Given the description of an element on the screen output the (x, y) to click on. 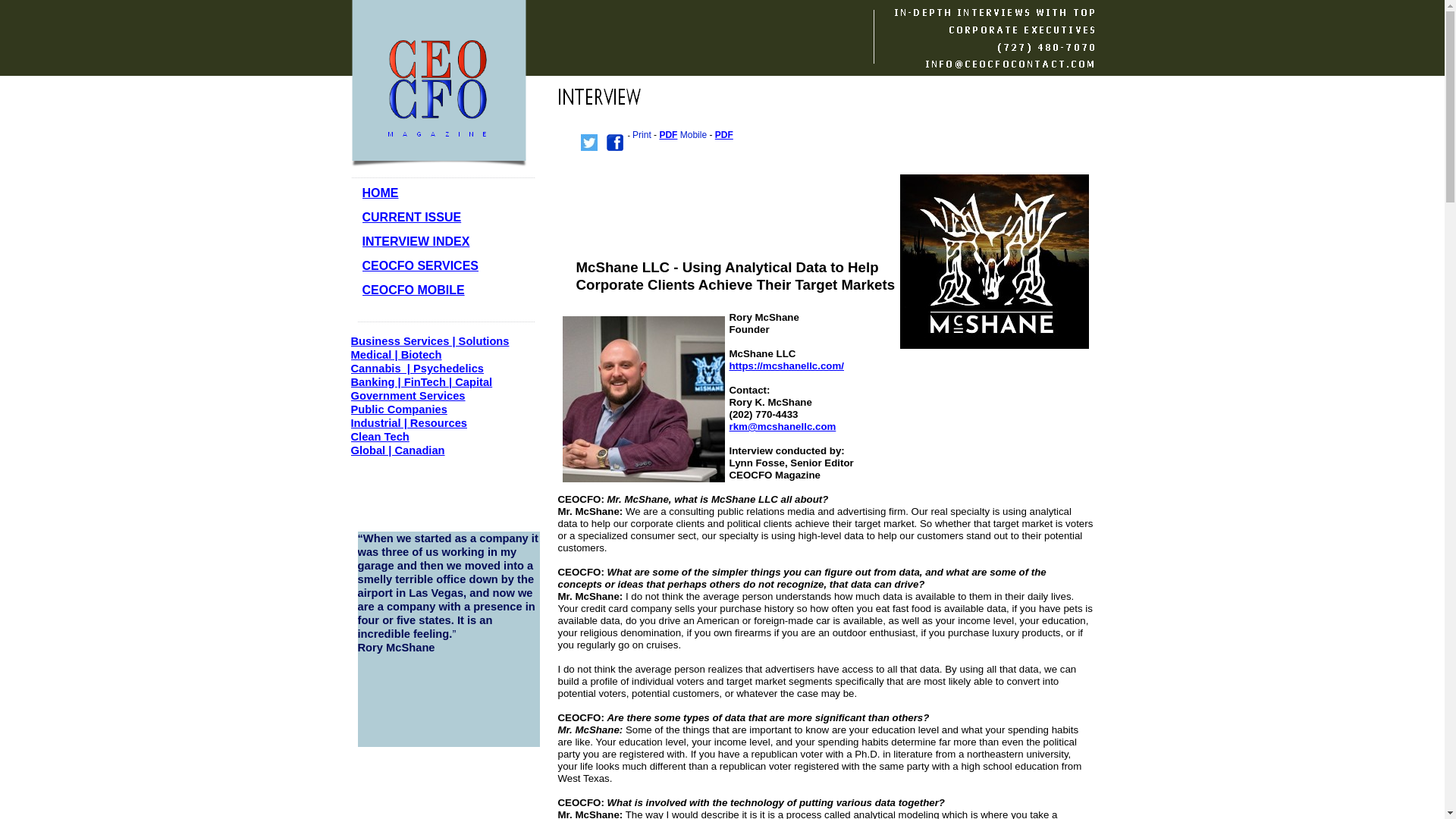
CURRENT ISSUE (411, 216)
Clean Tech (379, 436)
CEOCFO MOBILE (413, 289)
HOME (380, 192)
PDF (668, 134)
INTERVIEW INDEX (416, 241)
Government Services (407, 395)
PDF (723, 134)
CEOCFO SERVICES (420, 265)
Public Companies (398, 409)
